Given the description of an element on the screen output the (x, y) to click on. 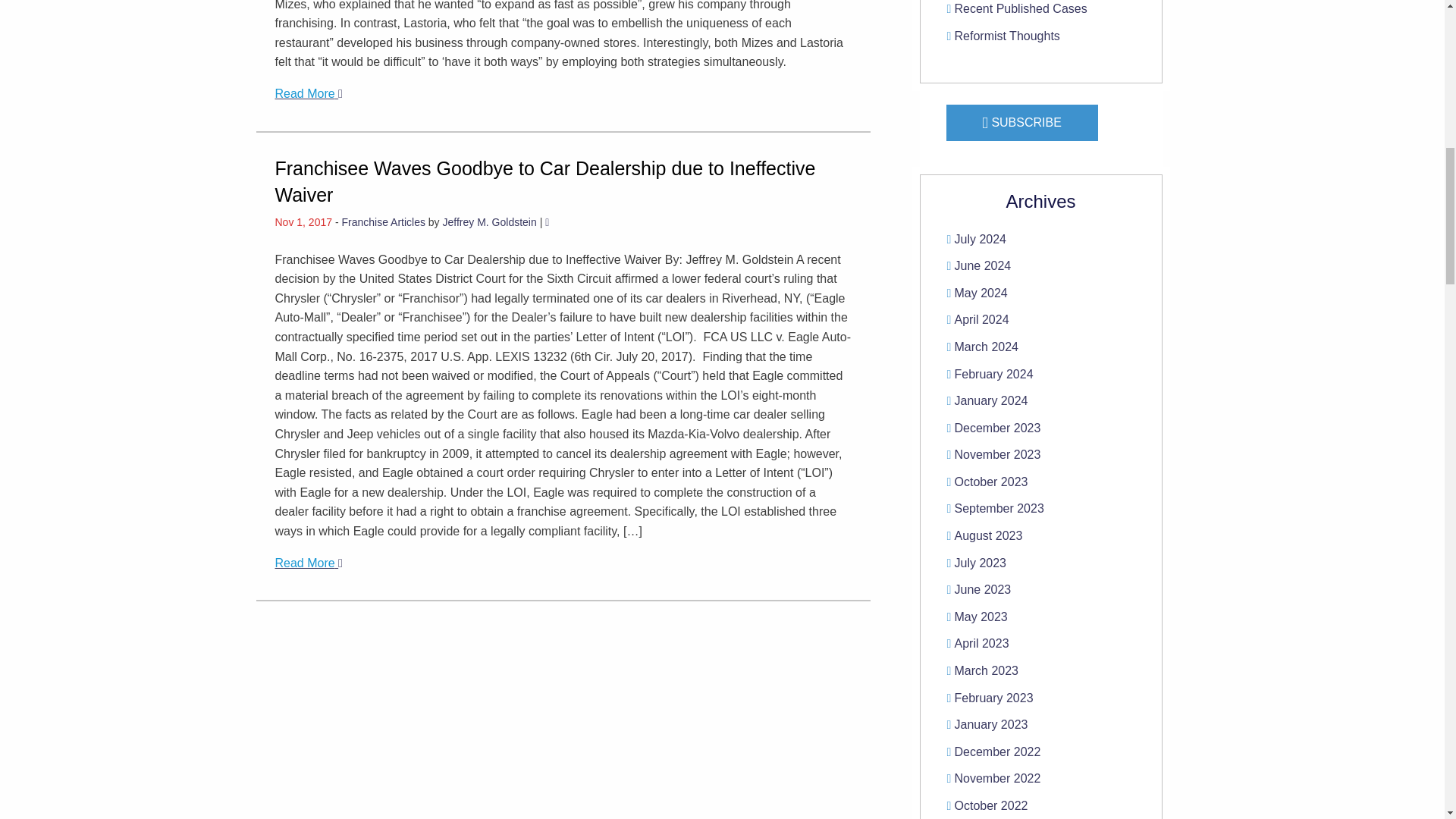
Posts by Jeffrey M. Goldstein (489, 222)
